Given the description of an element on the screen output the (x, y) to click on. 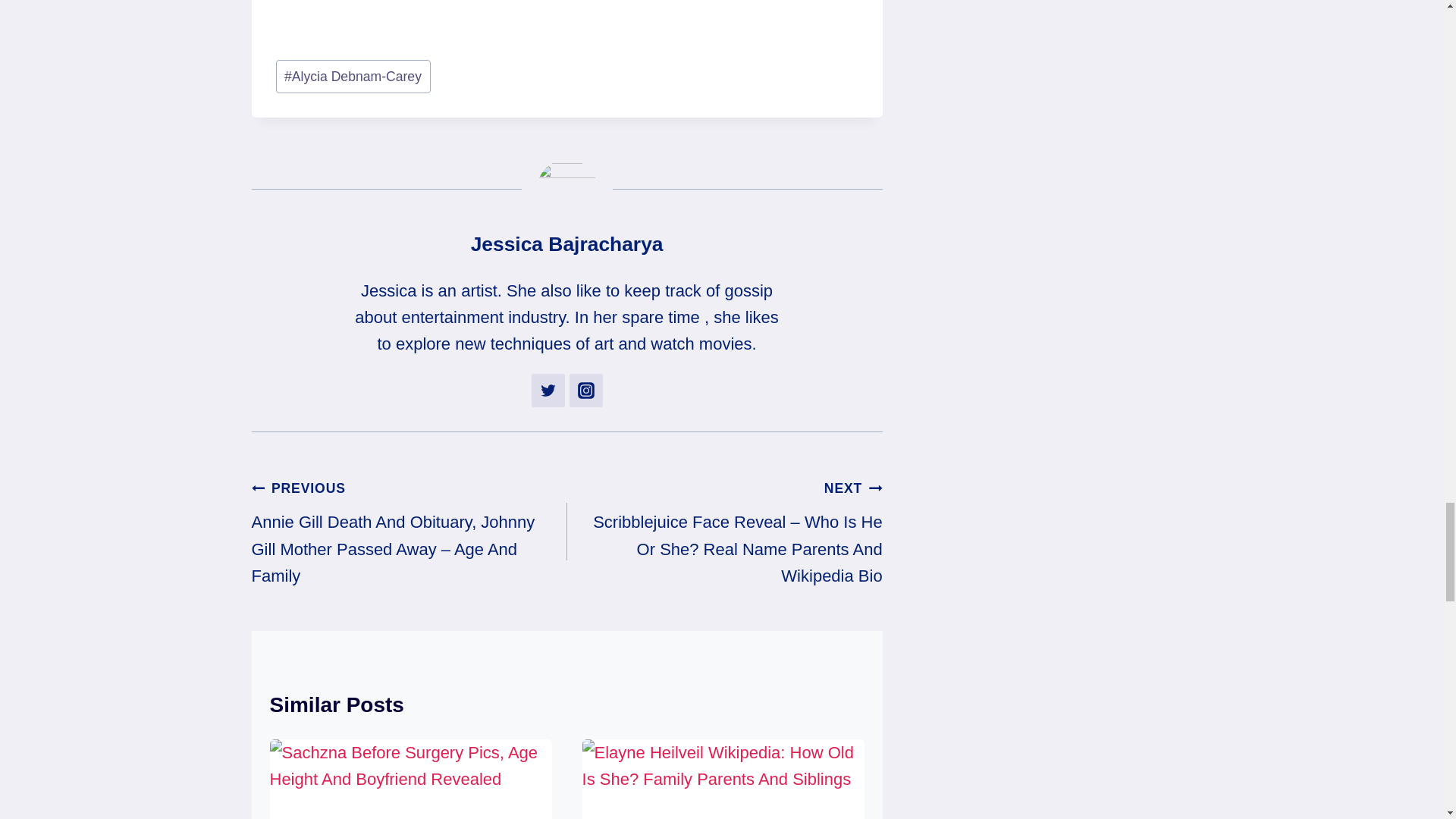
Alycia Debnam-Carey (353, 76)
Posts by Jessica Bajracharya (566, 243)
Jessica Bajracharya (566, 243)
Follow Jessica Bajracharya on Twitter (547, 390)
Follow Jessica Bajracharya on Instagram (585, 390)
